Given the description of an element on the screen output the (x, y) to click on. 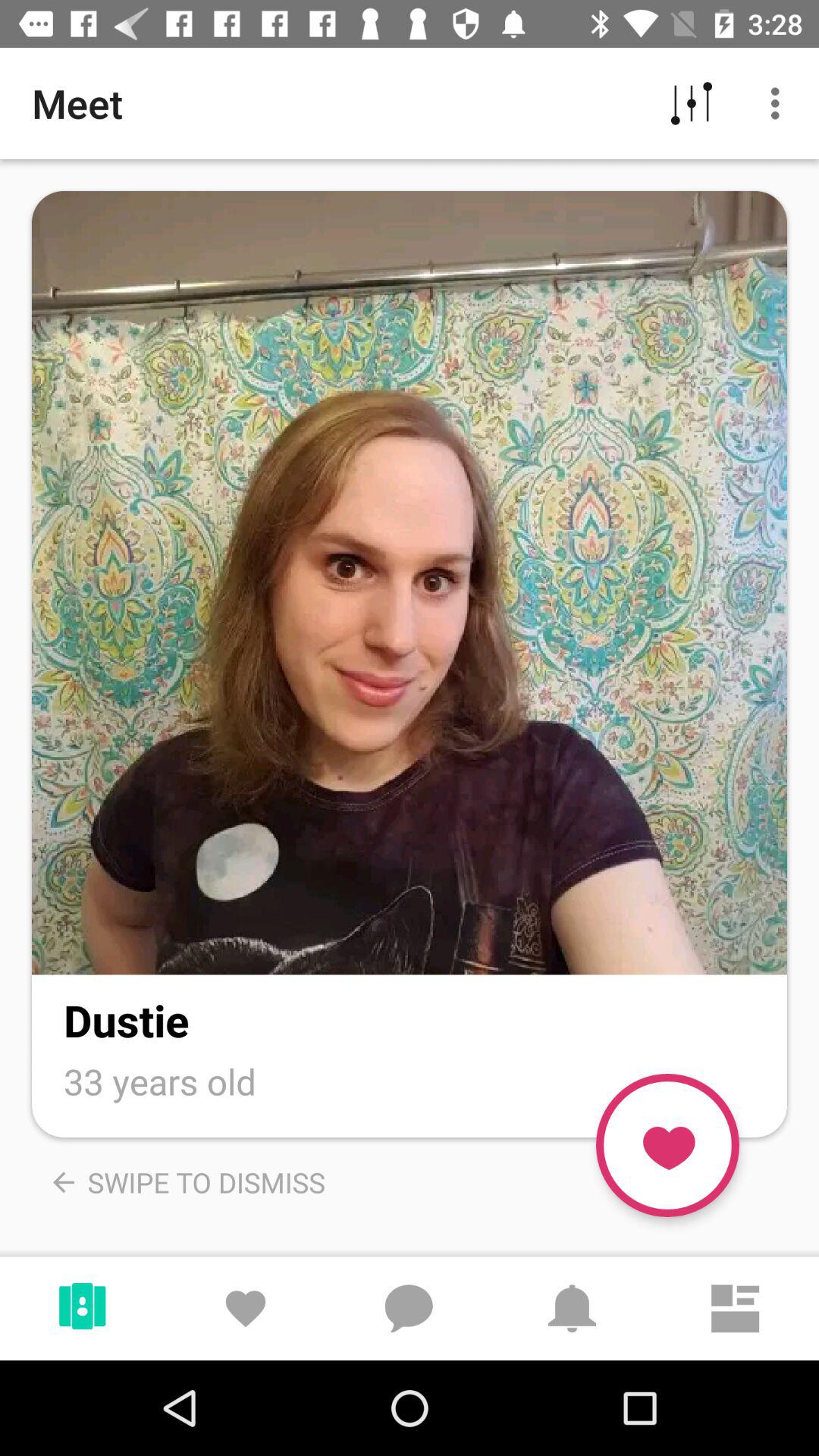
launch icon below dustie (159, 1081)
